Given the description of an element on the screen output the (x, y) to click on. 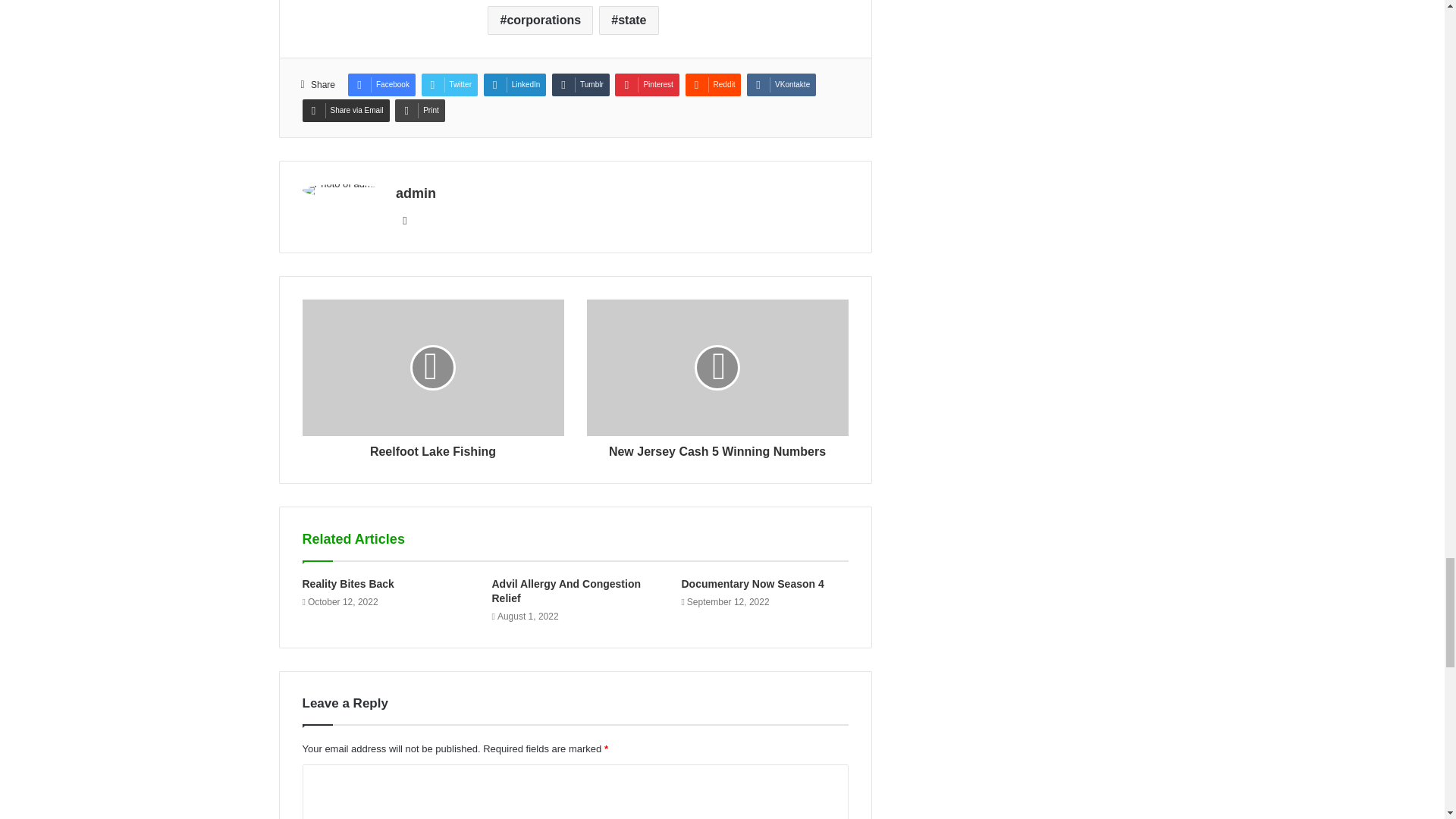
corporations (539, 20)
state (628, 20)
